Given the description of an element on the screen output the (x, y) to click on. 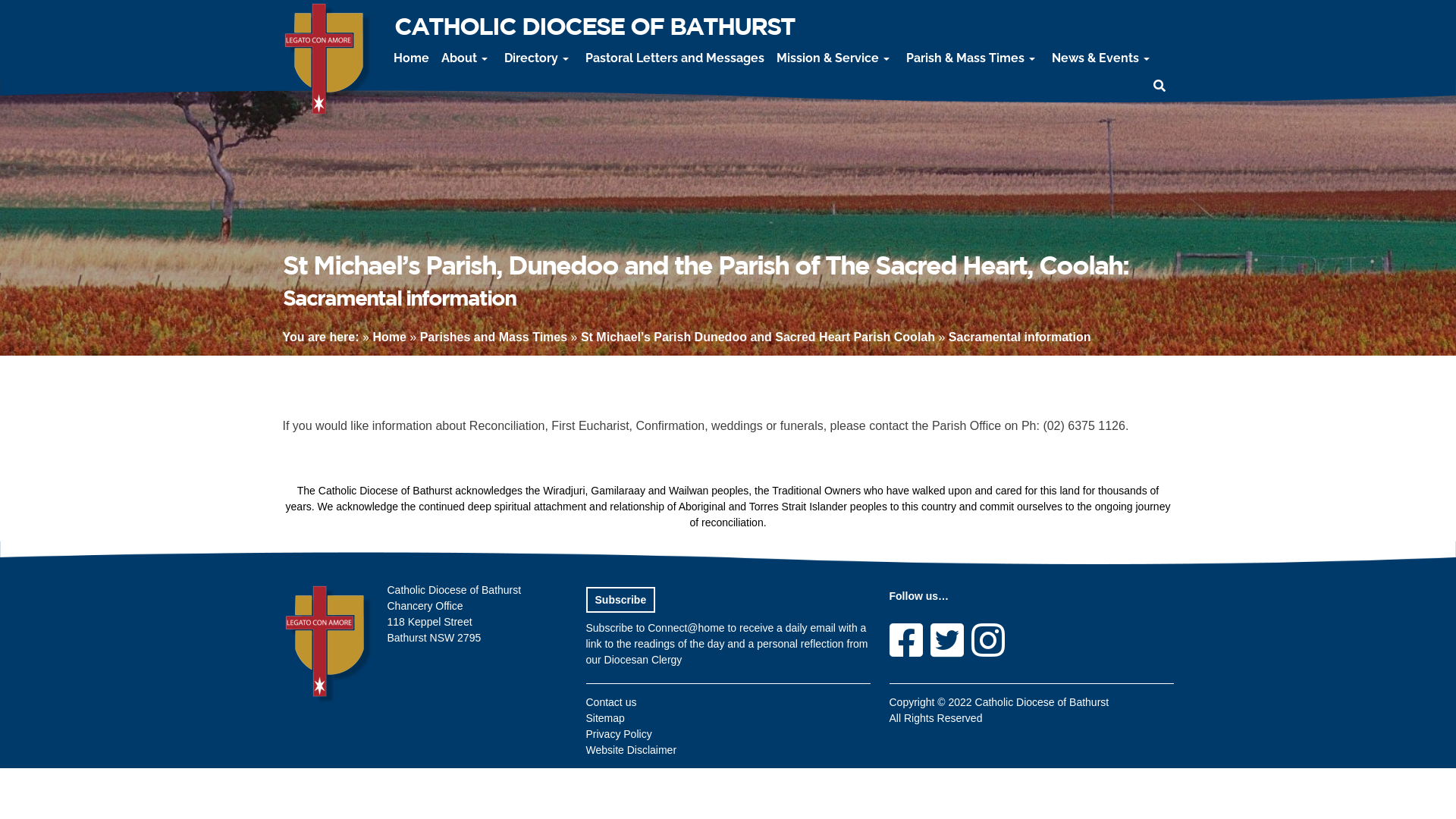
Home Element type: text (411, 58)
Website Disclaimer Element type: text (630, 749)
Sitemap Element type: text (604, 718)
catholic diocese of bathurst logo Element type: hover (328, 644)
Home Element type: text (388, 336)
Pastoral Letters and Messages Element type: text (674, 58)
catholic diocese of bathurst logo Element type: hover (328, 62)
News & Events Element type: text (1102, 58)
About Element type: text (466, 58)
Mission & Service Element type: text (835, 58)
Subscribe Element type: text (620, 599)
Privacy Policy Element type: text (618, 734)
Parish & Mass Times Element type: text (972, 58)
Contact us Element type: text (610, 702)
Parishes and Mass Times Element type: text (493, 336)
Directory Element type: text (538, 58)
